Given the description of an element on the screen output the (x, y) to click on. 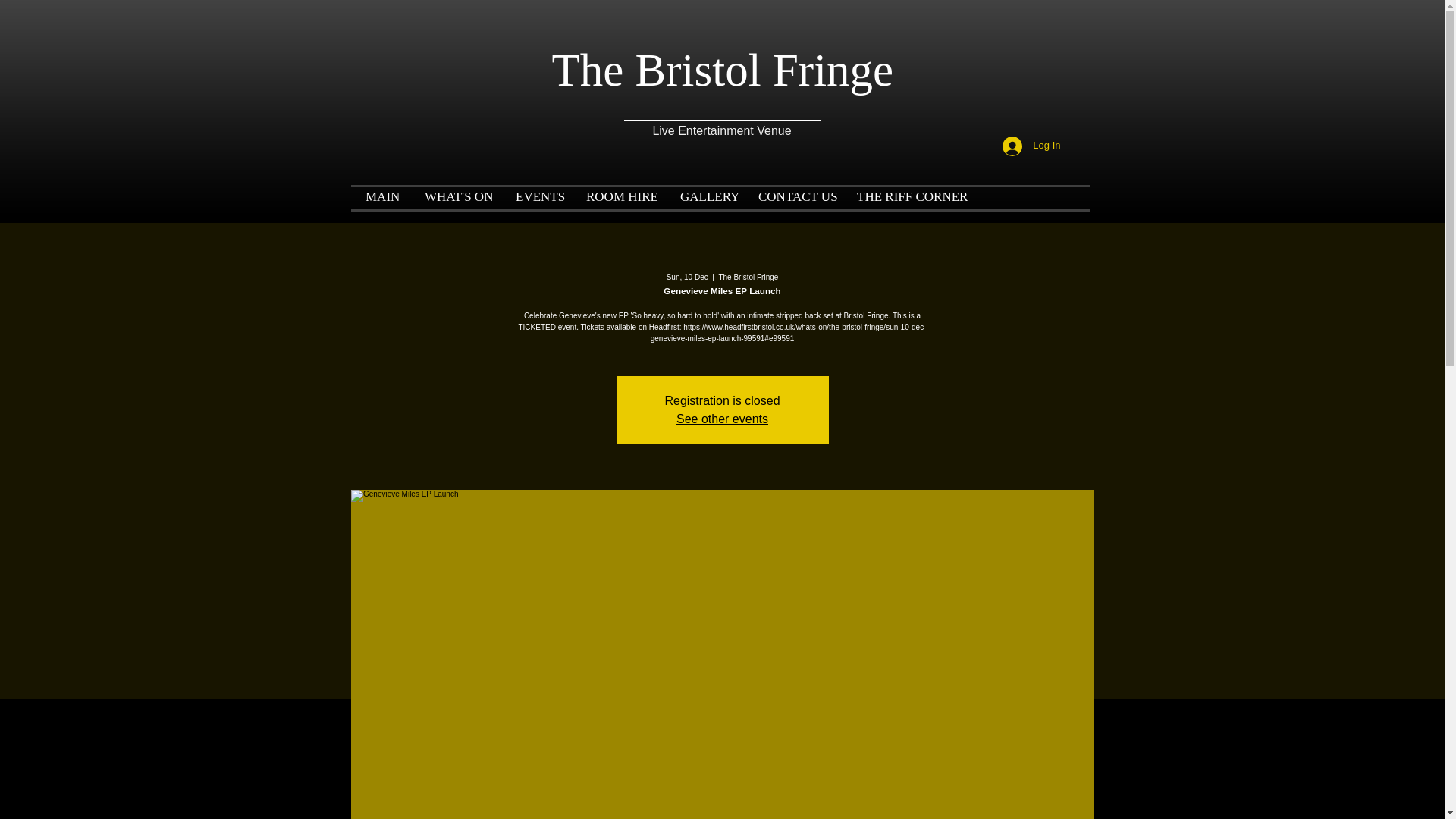
GALLERY (703, 192)
MAIN (379, 192)
See other events (722, 418)
THE RIFF CORNER (903, 192)
Log In (1030, 145)
CONTACT US (791, 192)
WHAT'S ON (454, 192)
ROOM HIRE (617, 192)
EVENTS (535, 192)
